Given the description of an element on the screen output the (x, y) to click on. 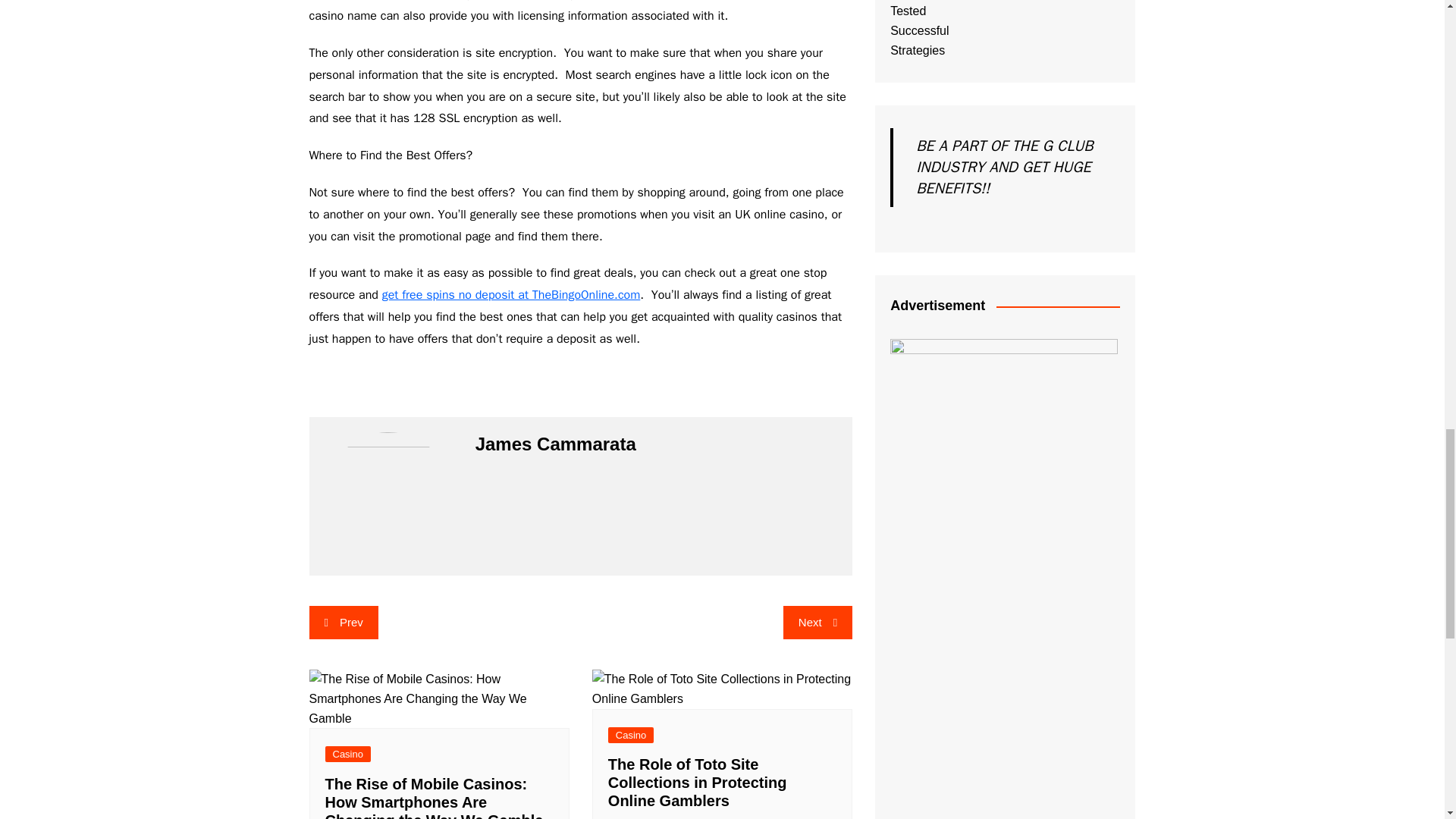
Casino (346, 754)
Next (817, 622)
Prev (343, 622)
get free spins no deposit at TheBingoOnline.com (510, 294)
Casino (630, 734)
